Given the description of an element on the screen output the (x, y) to click on. 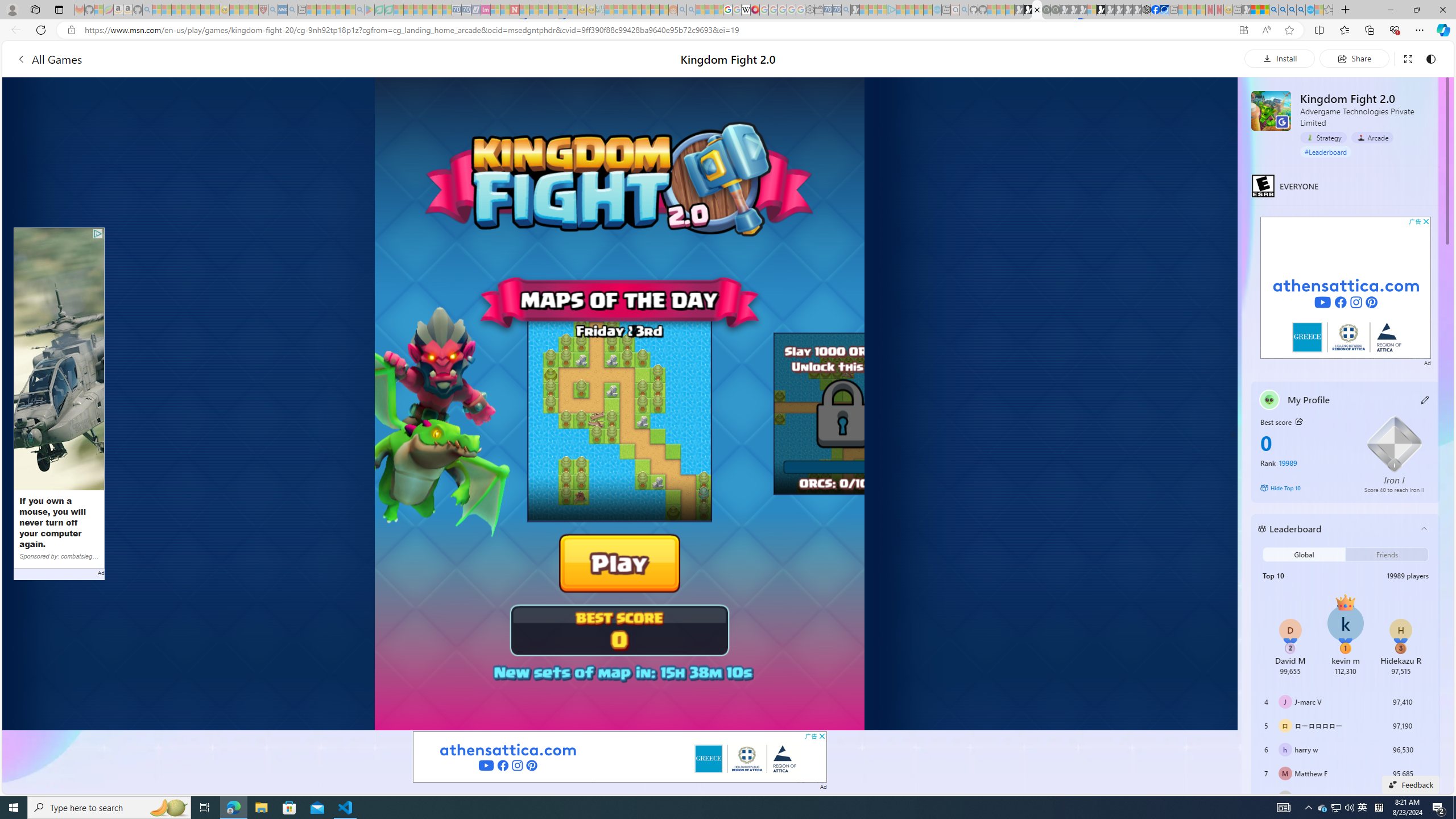
Ad (1427, 362)
Microsoft-Report a Concern to Bing - Sleeping (98, 9)
All Games (49, 58)
Target page - Wikipedia (745, 9)
list of asthma inhalers uk - Search - Sleeping (272, 9)
App available. Install Kingdom Fight 2.0 (1243, 29)
New Report Confirms 2023 Was Record Hot | Watch - Sleeping (195, 9)
Feedback (1410, 784)
App bar (728, 29)
Favorites - Sleeping (1328, 9)
